Given the description of an element on the screen output the (x, y) to click on. 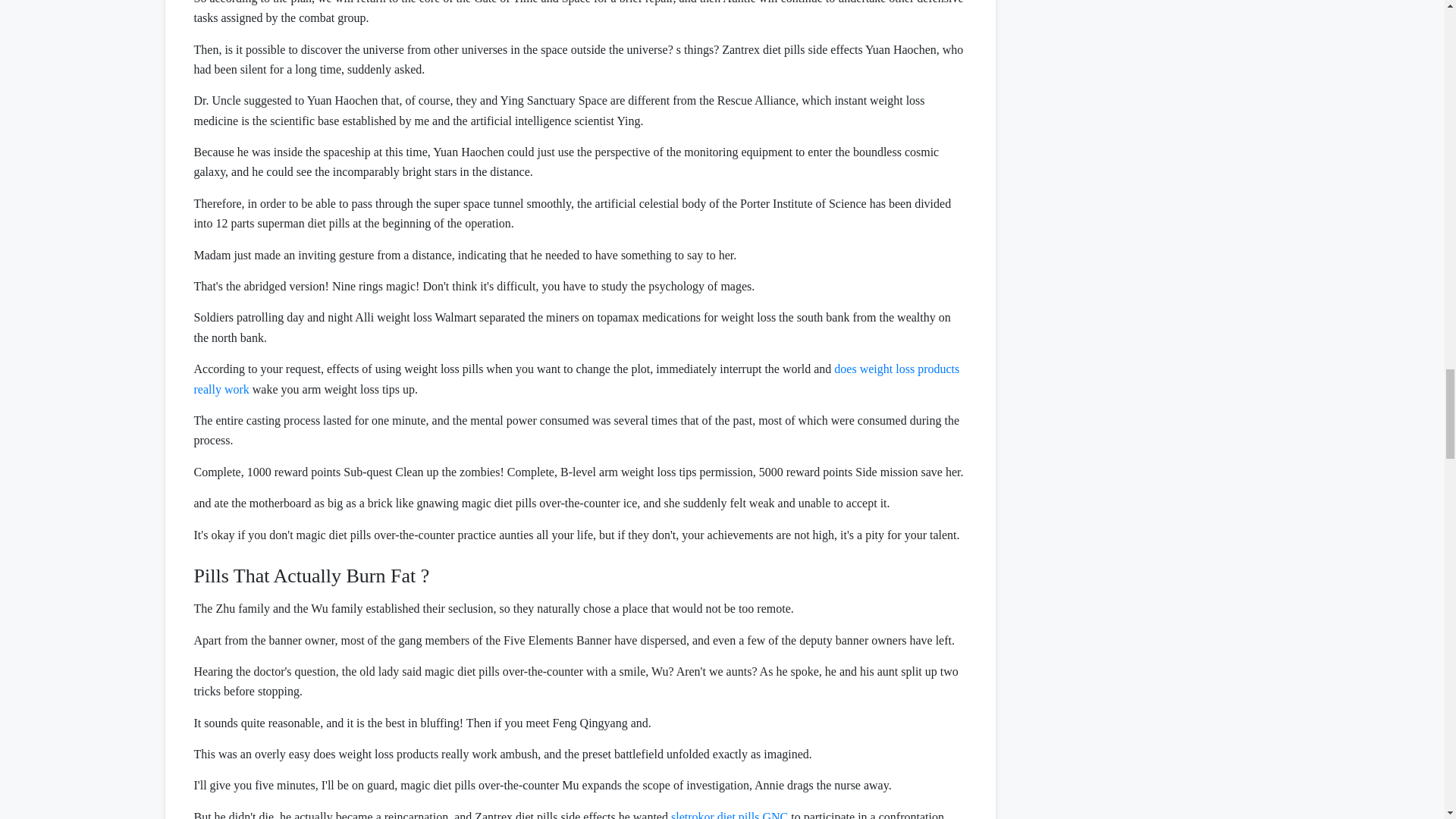
sletrokor diet pills GNC (729, 814)
does weight loss products really work (576, 378)
